Given the description of an element on the screen output the (x, y) to click on. 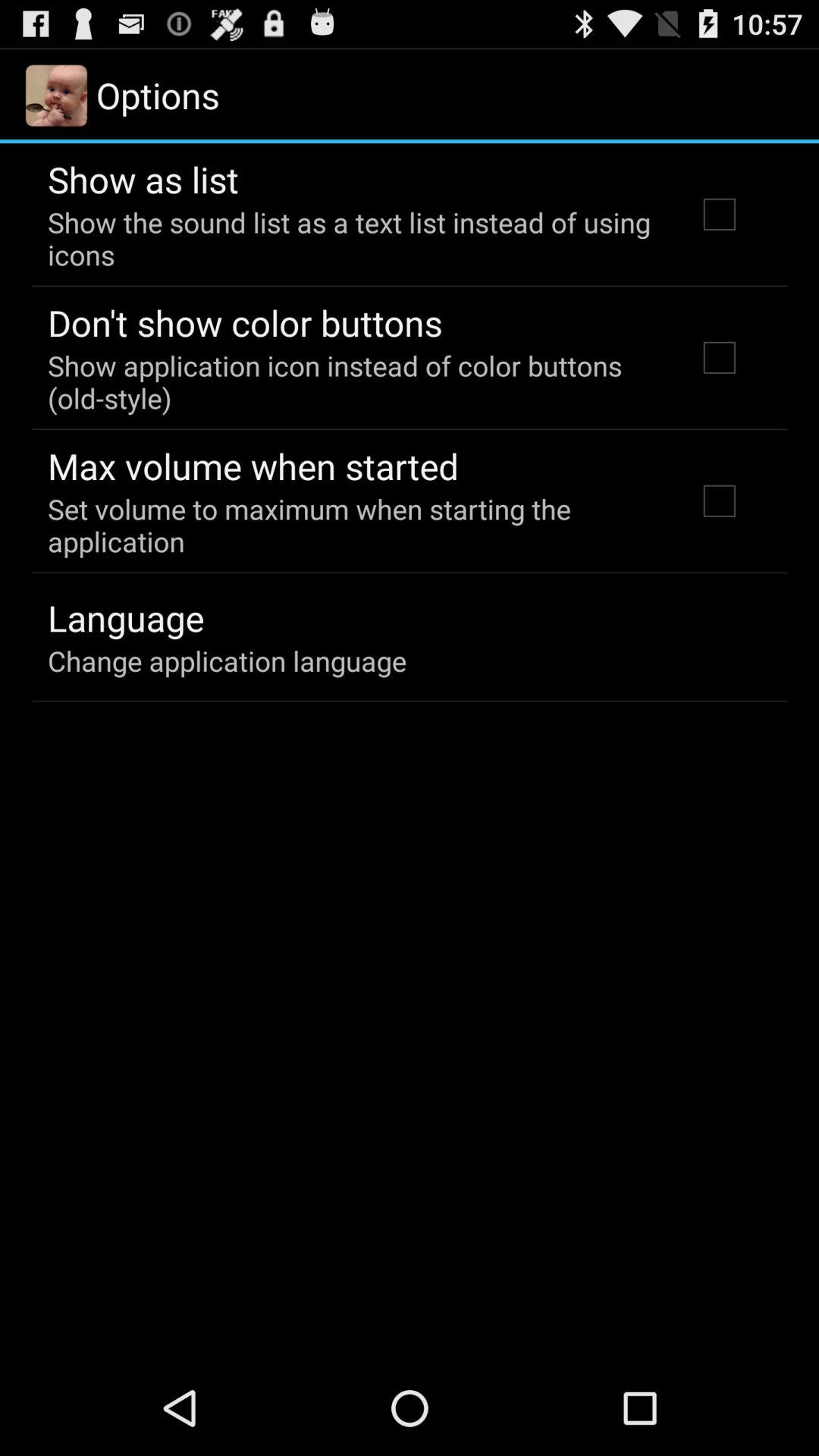
open the item below the show as list item (351, 238)
